Given the description of an element on the screen output the (x, y) to click on. 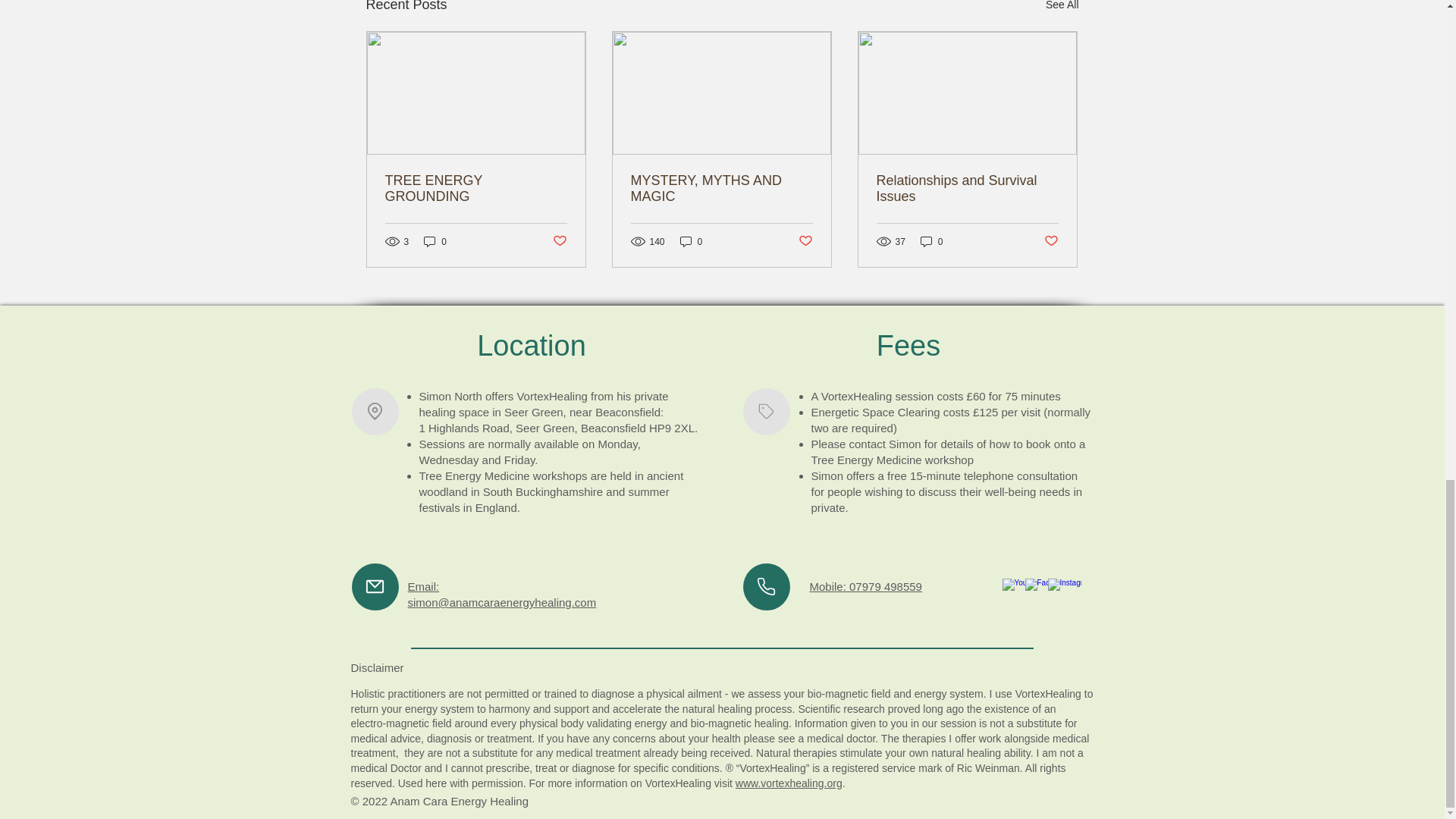
Post not marked as liked (558, 241)
Relationships and Survival Issues (967, 188)
0 (691, 241)
Post not marked as liked (1050, 241)
TREE ENERGY GROUNDING (476, 188)
0 (435, 241)
See All (1061, 7)
Post not marked as liked (804, 241)
MYSTERY, MYTHS AND MAGIC (721, 188)
0 (931, 241)
